Given the description of an element on the screen output the (x, y) to click on. 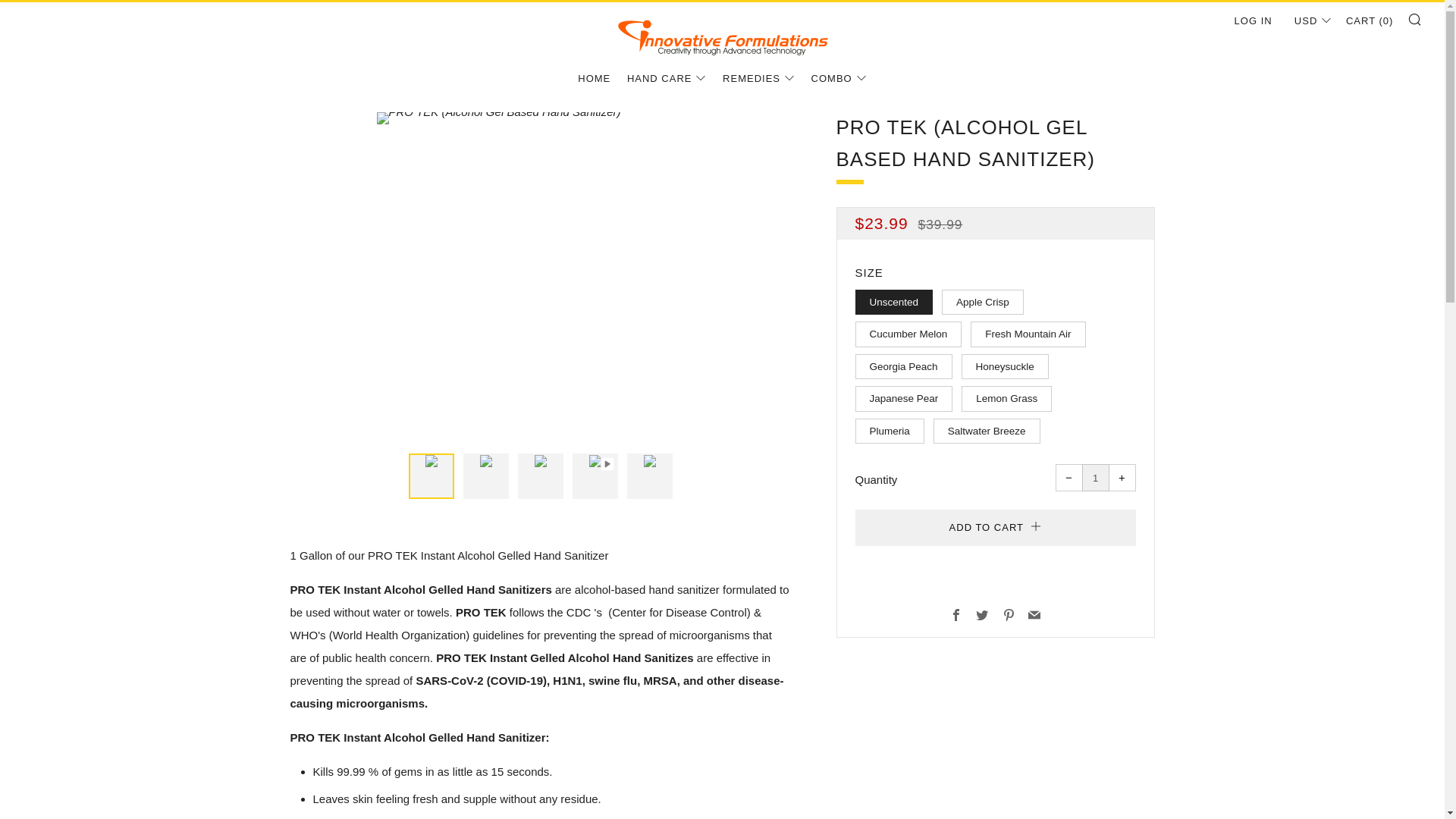
1 (1094, 477)
